Given the description of an element on the screen output the (x, y) to click on. 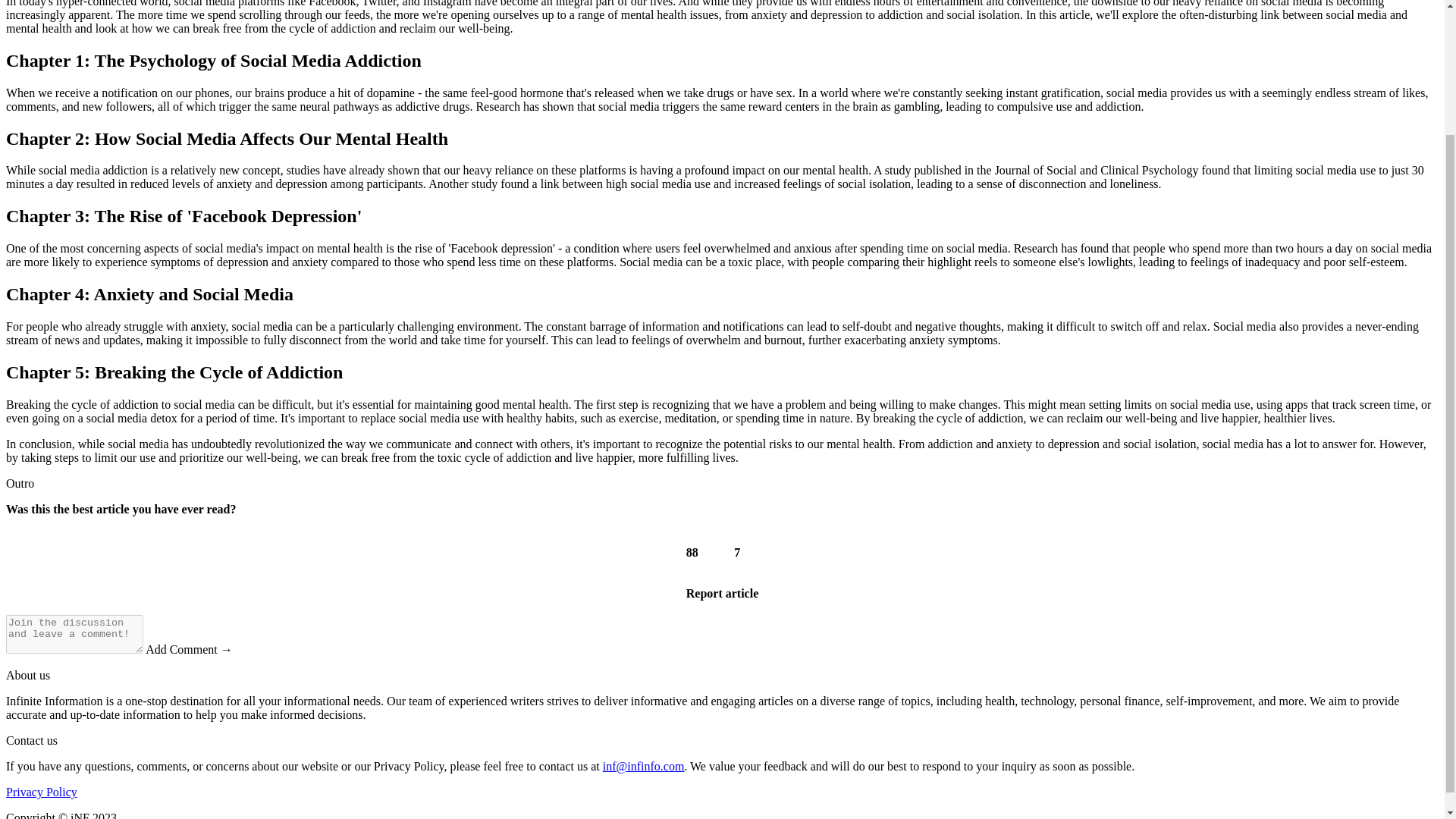
Privacy Policy (41, 791)
